Given the description of an element on the screen output the (x, y) to click on. 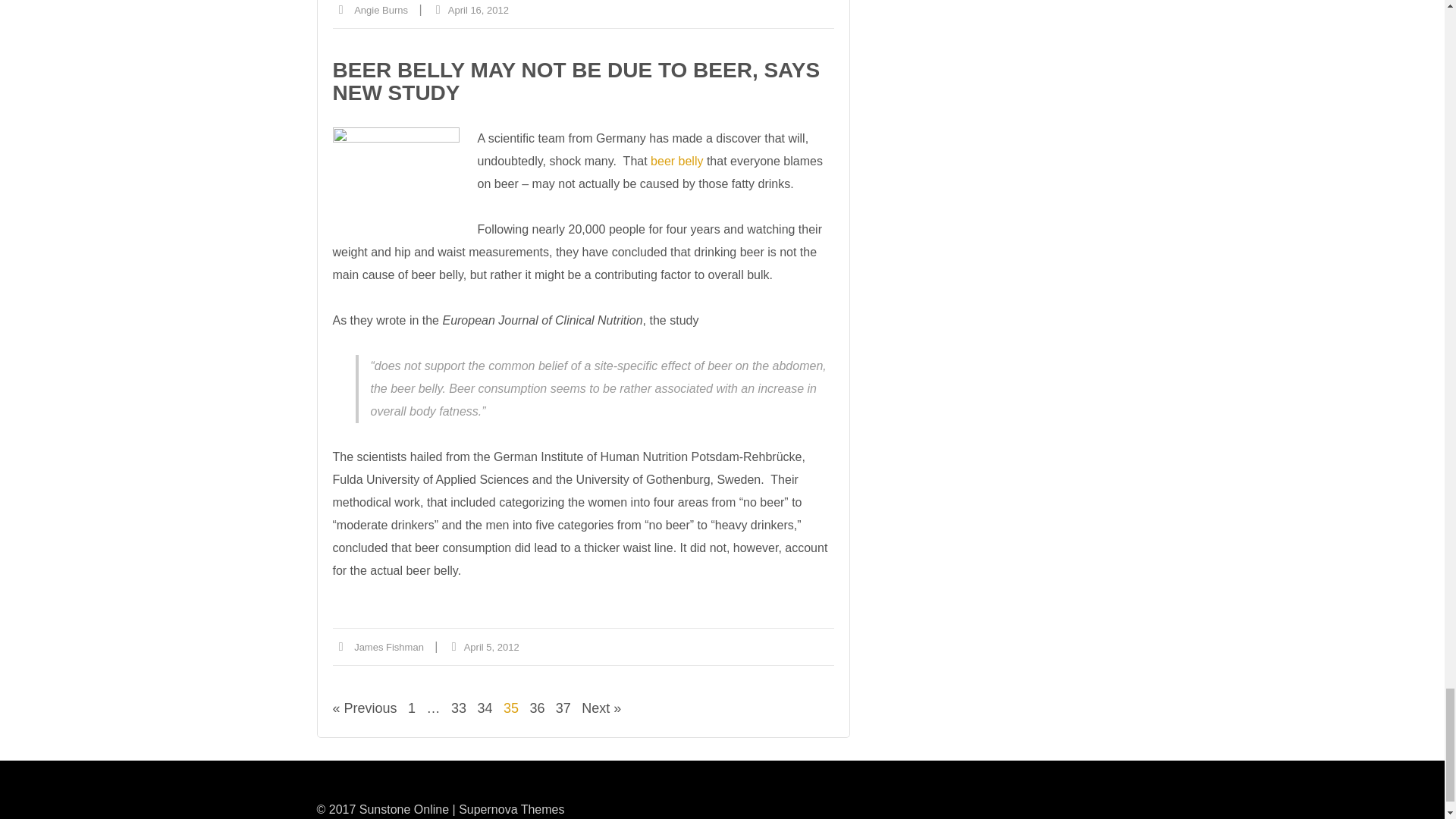
beer belly (394, 183)
